Given the description of an element on the screen output the (x, y) to click on. 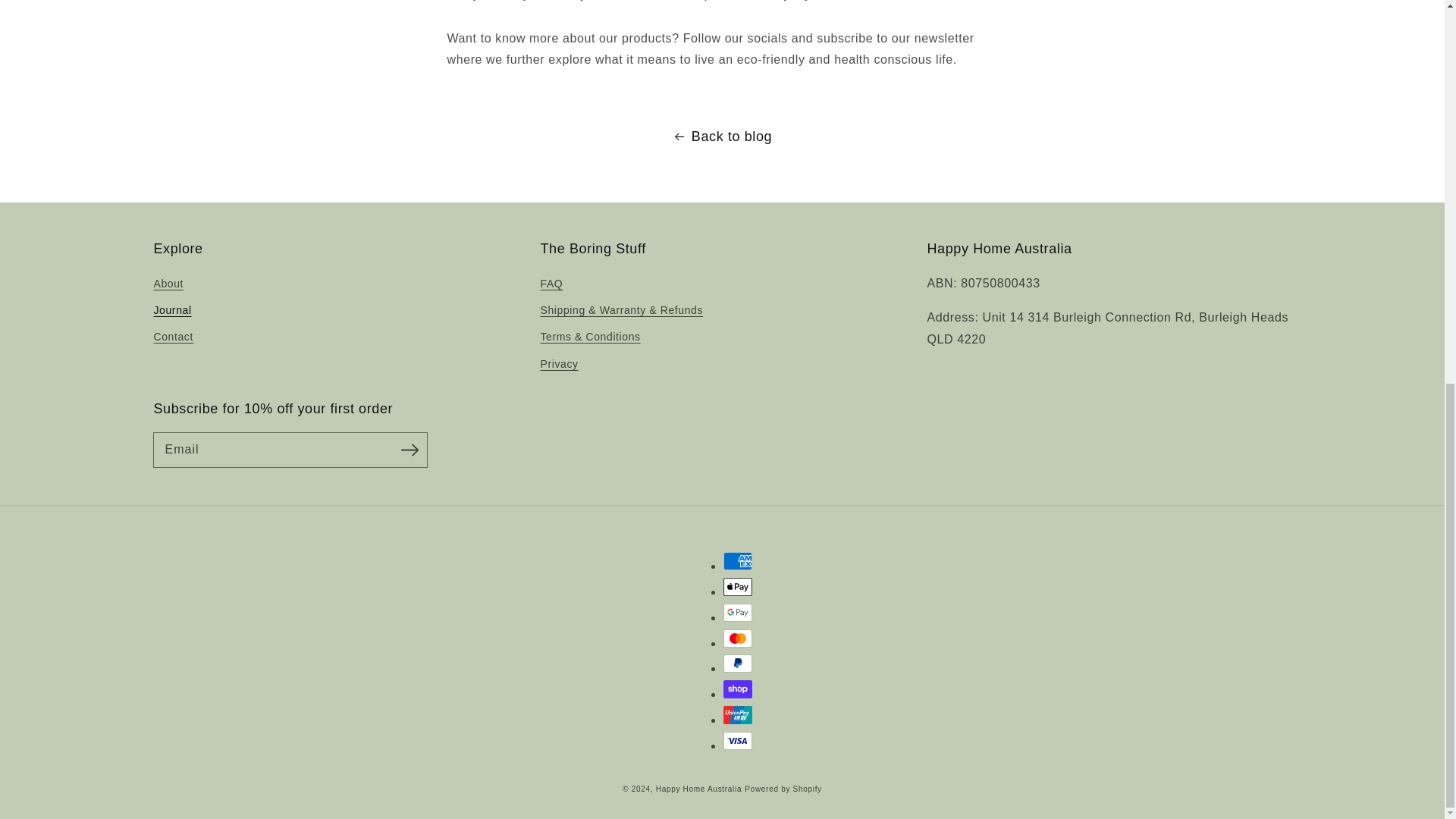
Visa (737, 741)
Privacy (559, 364)
Google Pay (737, 612)
Happy Home Australia (699, 788)
Apple Pay (737, 587)
About (167, 285)
Contact (172, 336)
Shop Pay (737, 689)
American Express (737, 561)
Union Pay (737, 714)
